Given the description of an element on the screen output the (x, y) to click on. 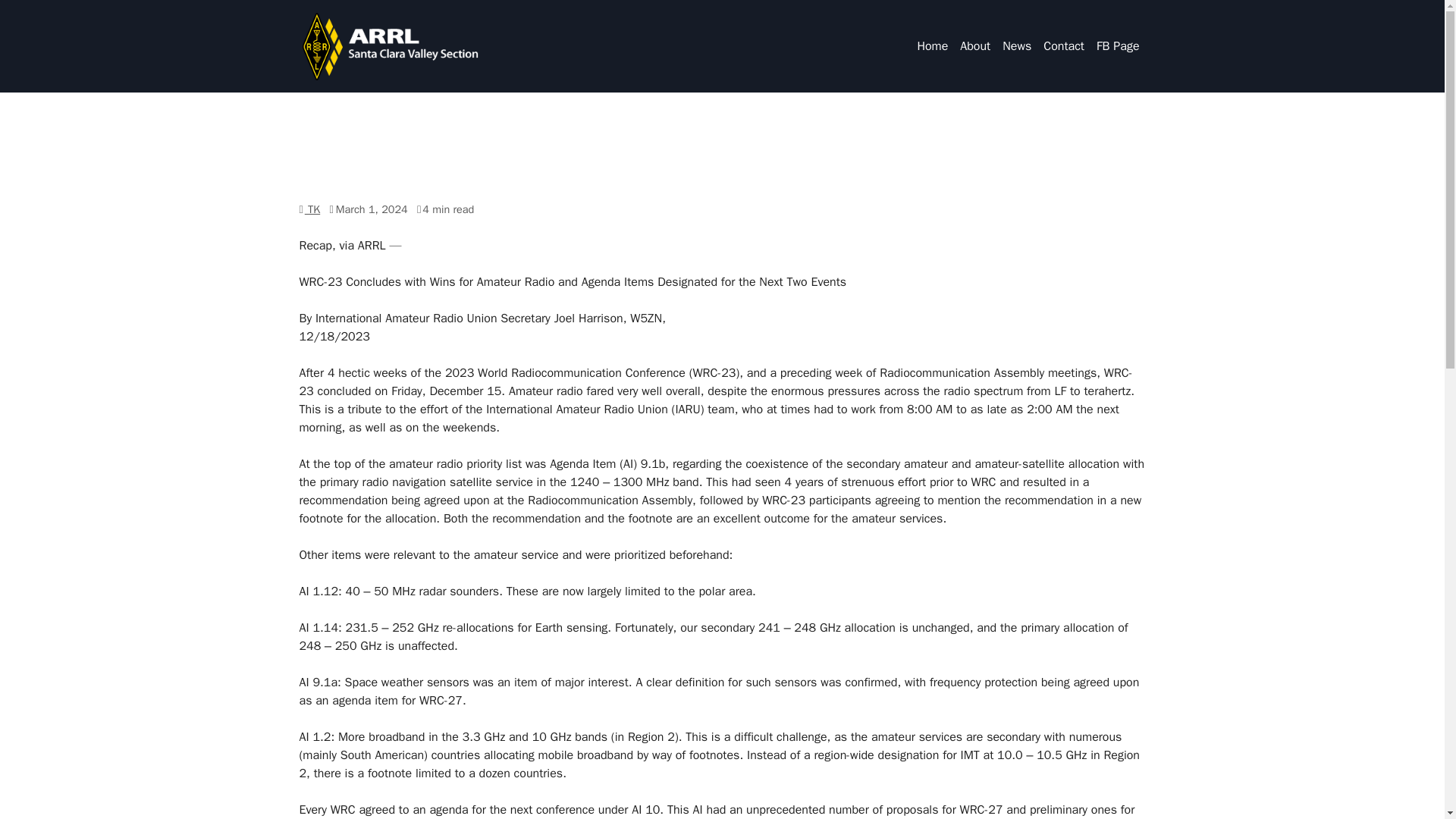
Home (932, 46)
Contact (1063, 46)
Contact (1027, 46)
News (1063, 46)
News (1015, 46)
About (1015, 46)
Home (974, 46)
About (932, 46)
FB Page (974, 46)
TK (1117, 46)
FB Page (312, 209)
